Given the description of an element on the screen output the (x, y) to click on. 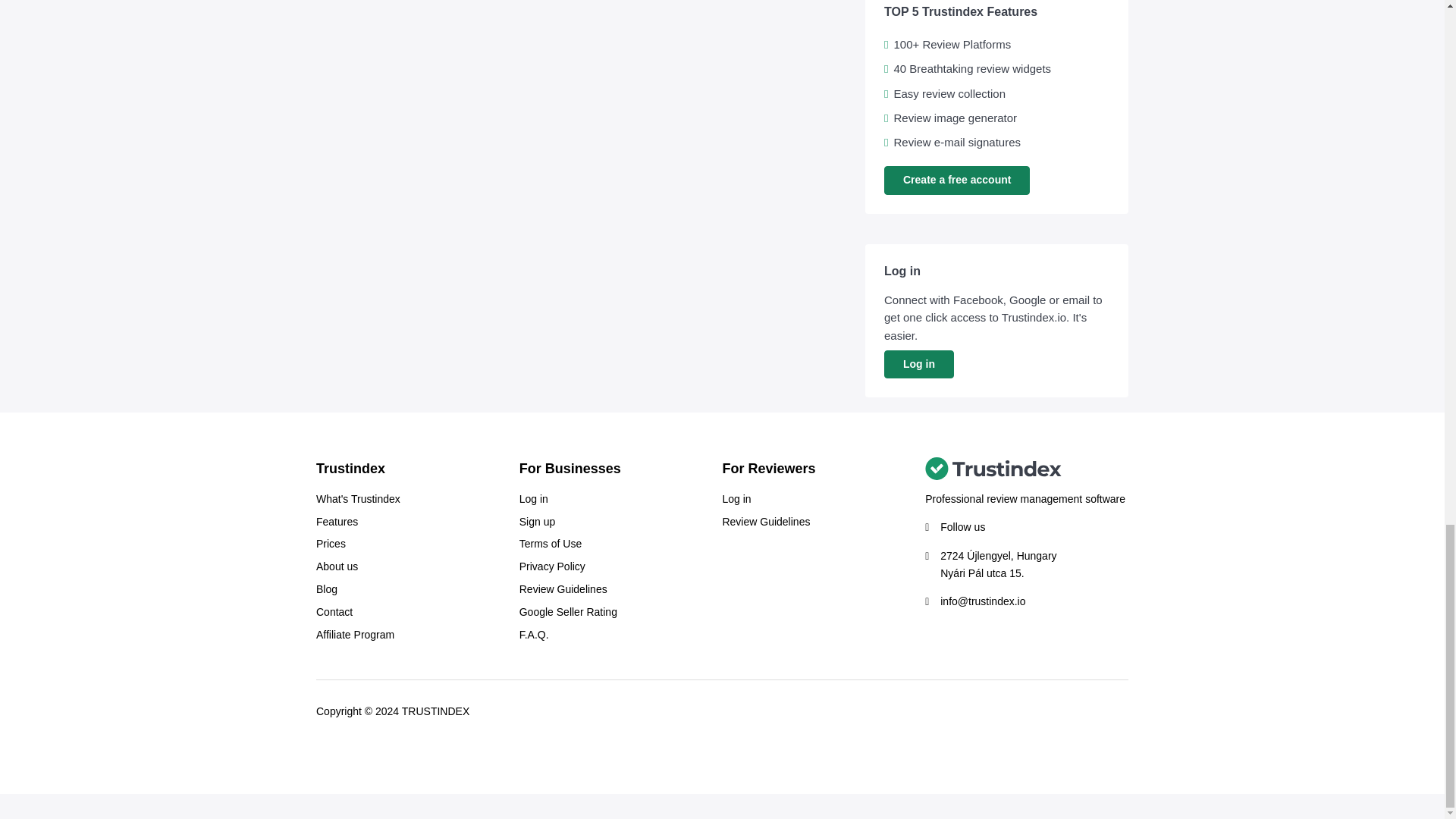
Blog (326, 589)
Features (336, 522)
Affiliate Program (354, 635)
What's Trustindex (357, 499)
About us (336, 566)
Prices (330, 544)
Sign up (536, 522)
Log in (533, 499)
Create a free account (956, 180)
Contact (333, 612)
Log in (918, 364)
